Given the description of an element on the screen output the (x, y) to click on. 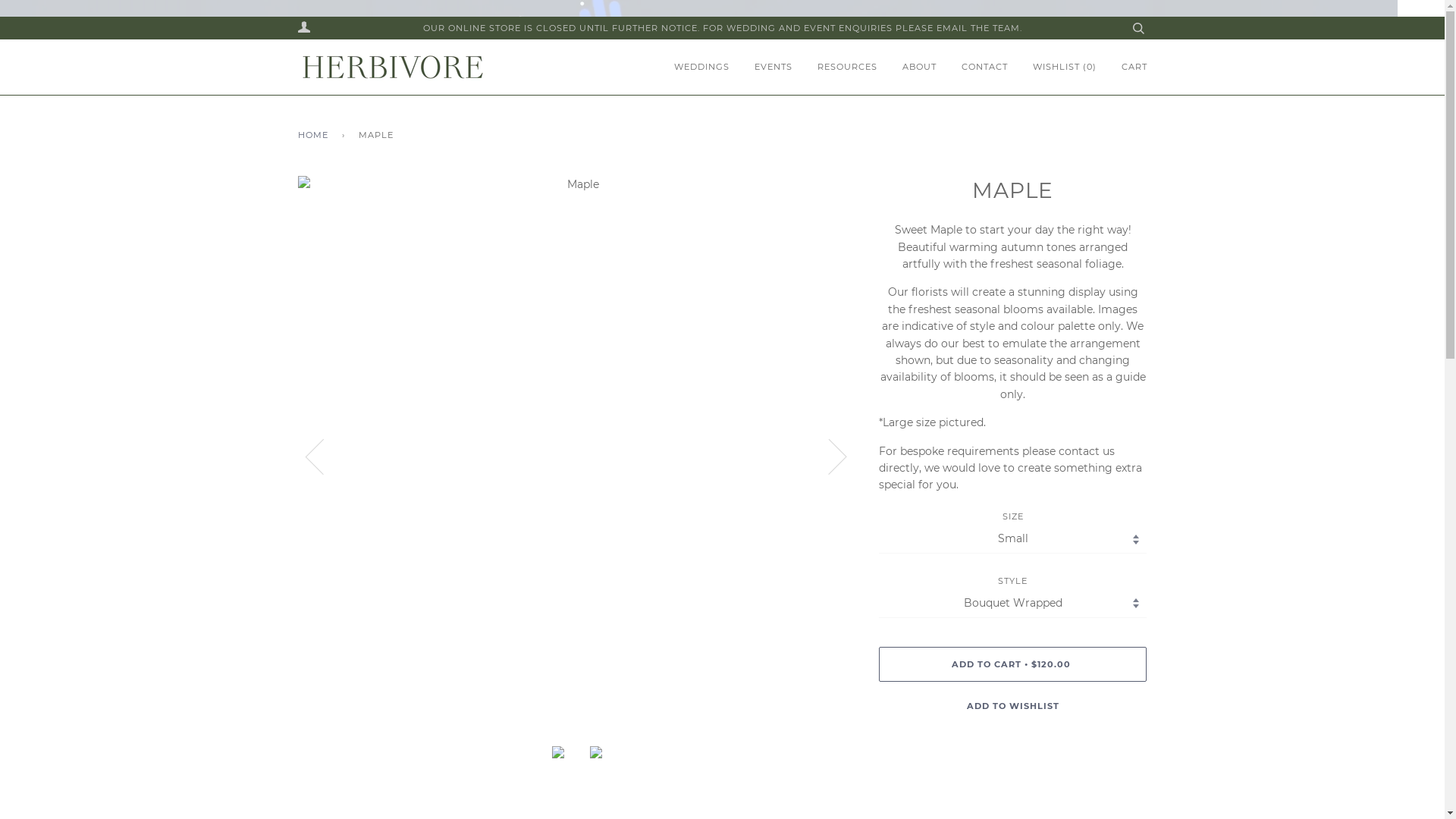
CART Element type: text (1122, 67)
ADD TO WISHLIST Element type: text (1012, 705)
CONTACT Element type: text (972, 67)
Next Element type: text (828, 455)
RESOURCES Element type: text (835, 67)
HOME Element type: text (314, 135)
Previous Element type: text (322, 455)
EVENTS Element type: text (761, 67)
WISHLIST (0) Element type: text (1053, 67)
ABOUT Element type: text (907, 67)
WEDDINGS Element type: text (696, 67)
